Given the description of an element on the screen output the (x, y) to click on. 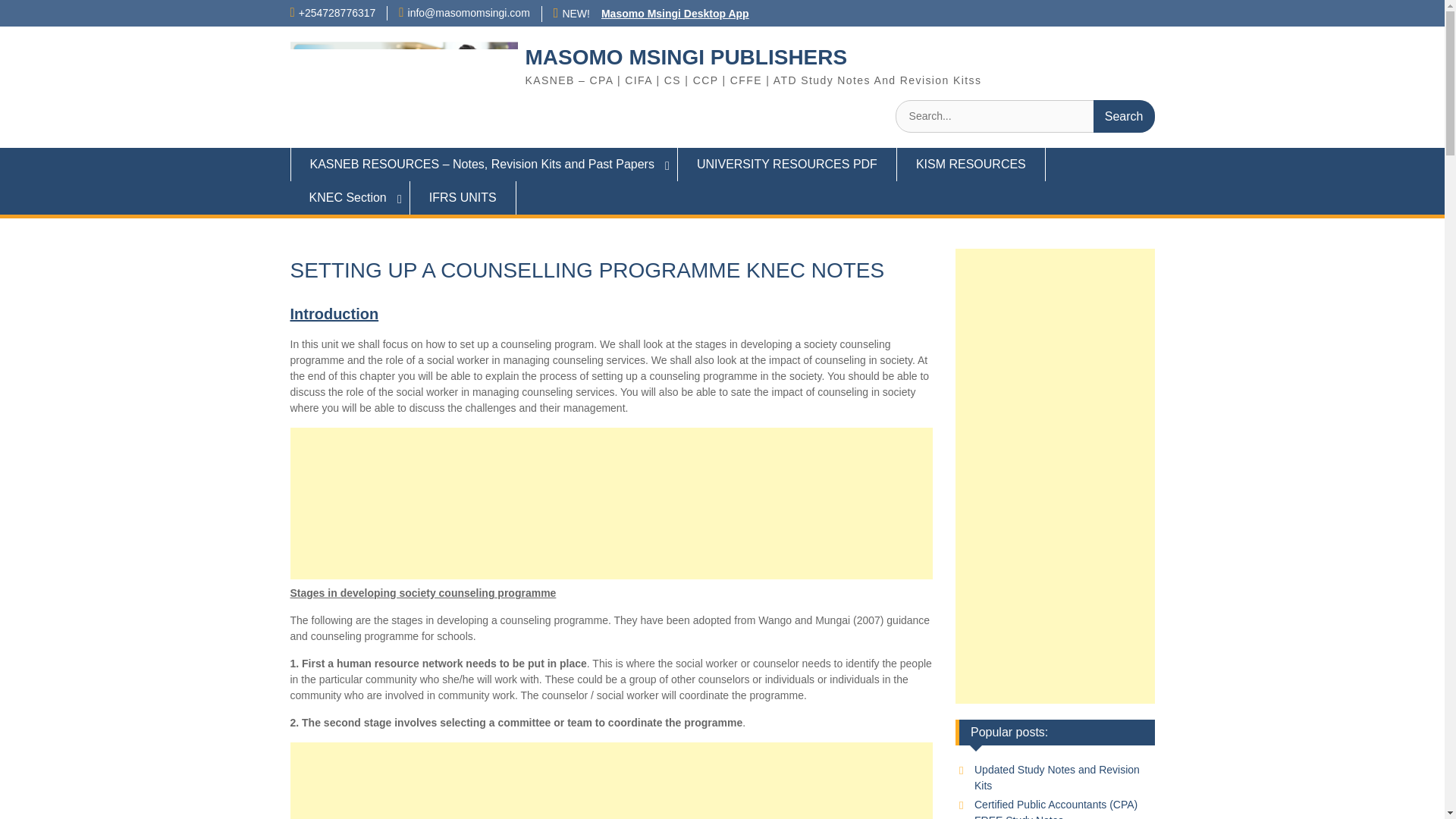
IFRS UNITS (463, 197)
Search for: (1024, 115)
UNIVERSITY RESOURCES PDF (787, 164)
Search (1123, 115)
KISM RESOURCES (970, 164)
Search (1123, 115)
Search (1123, 115)
KNEC Section (349, 197)
Updated Study Notes and Revision Kits (1057, 777)
MASOMO MSINGI PUBLISHERS (685, 56)
Masomo Msingi Desktop App (675, 13)
